Given the description of an element on the screen output the (x, y) to click on. 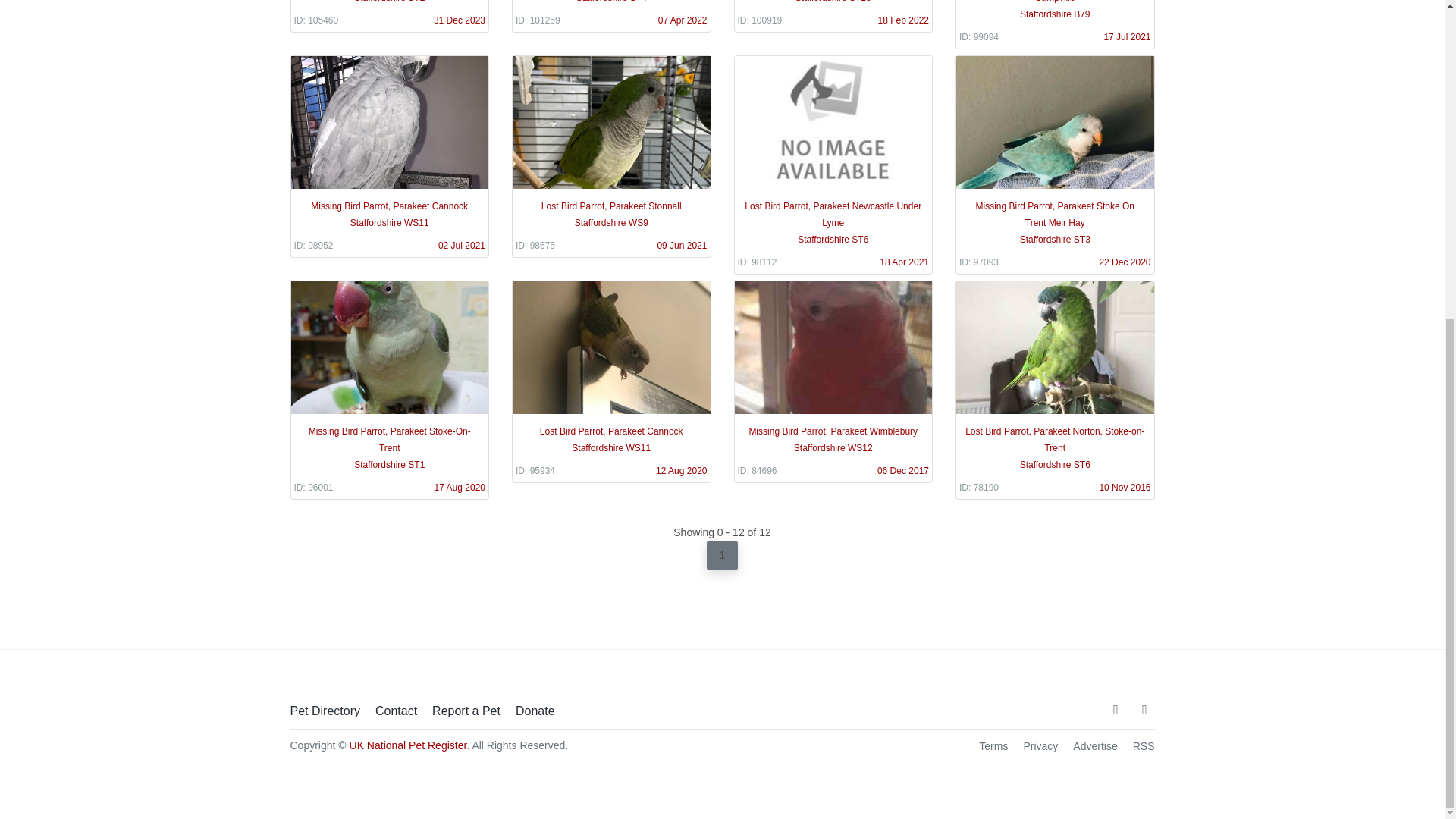
Missing Bird Parrot, Parakeet Cannock (389, 156)
Lost Bird Parrot, Parakeet Newcastle Under Lyme (833, 164)
Missing Bird Parrot, Parakeet Clifton Campville (1054, 24)
Lost Bird Parrot, Parakeet Norton, Stoke-on-Trent (1054, 389)
Lost Bird Parrot, Parakeet Cannock (611, 381)
Missing Bird Parrot, Parakeet Wimblebury (833, 381)
Lost Bird Parrot, Parakeet Stoke On Trent  (389, 16)
Missing Bird Parrot, Parakeet Stoke-On-Trent (389, 389)
Missing Bird Parrot, Parakeet Stoke On Trent Meir Hay  (1054, 164)
Missing Bird Parrot, Parakeet Stoke-on-trent (611, 16)
